Given the description of an element on the screen output the (x, y) to click on. 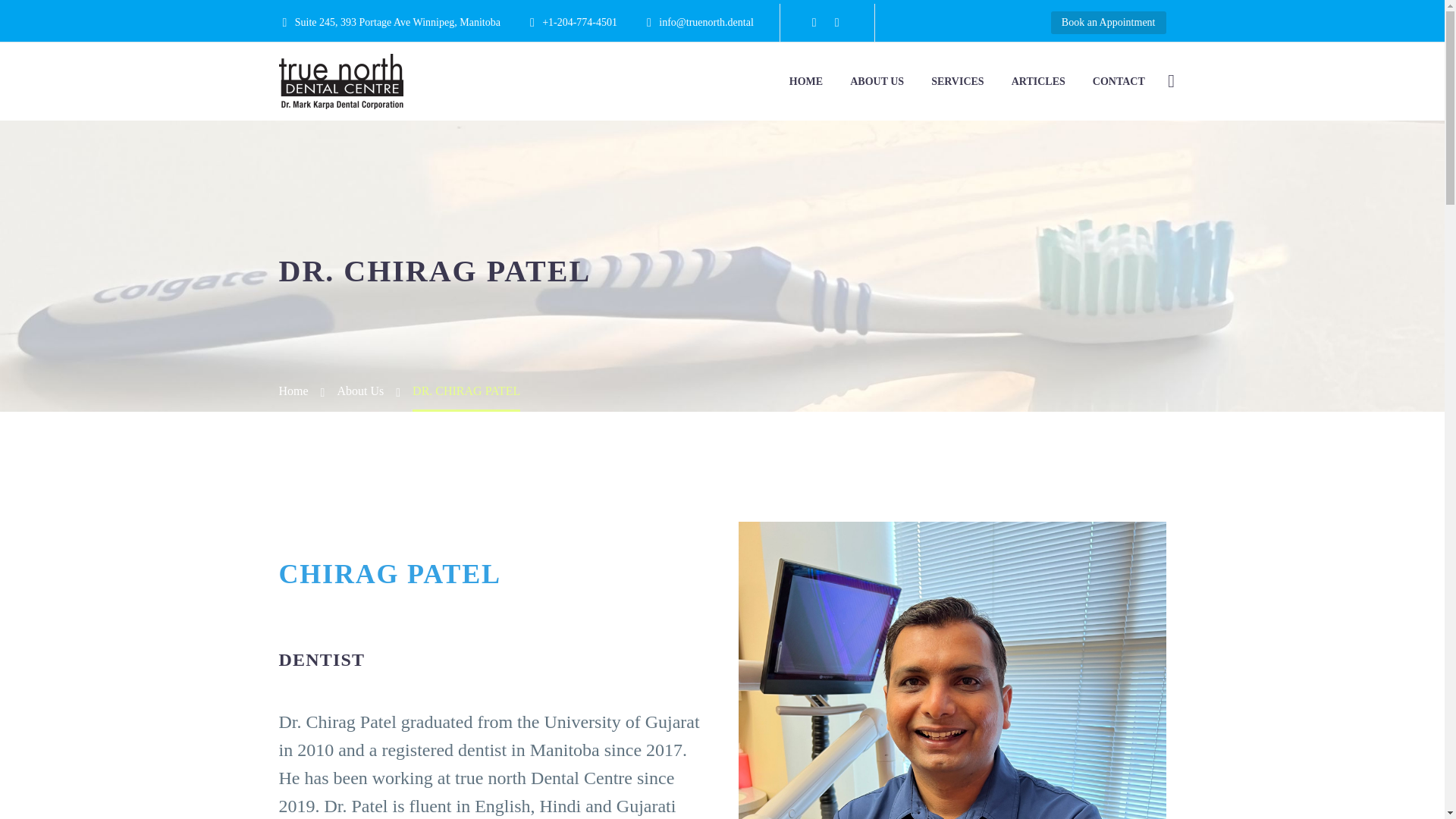
Instagram (836, 22)
Facebook (814, 22)
CONTACT (1118, 81)
SERVICES (957, 81)
ABOUT US (876, 81)
Book an Appointment (1108, 22)
Home (293, 390)
About Us (360, 390)
ARTICLES (1038, 81)
HOME (805, 81)
